Given the description of an element on the screen output the (x, y) to click on. 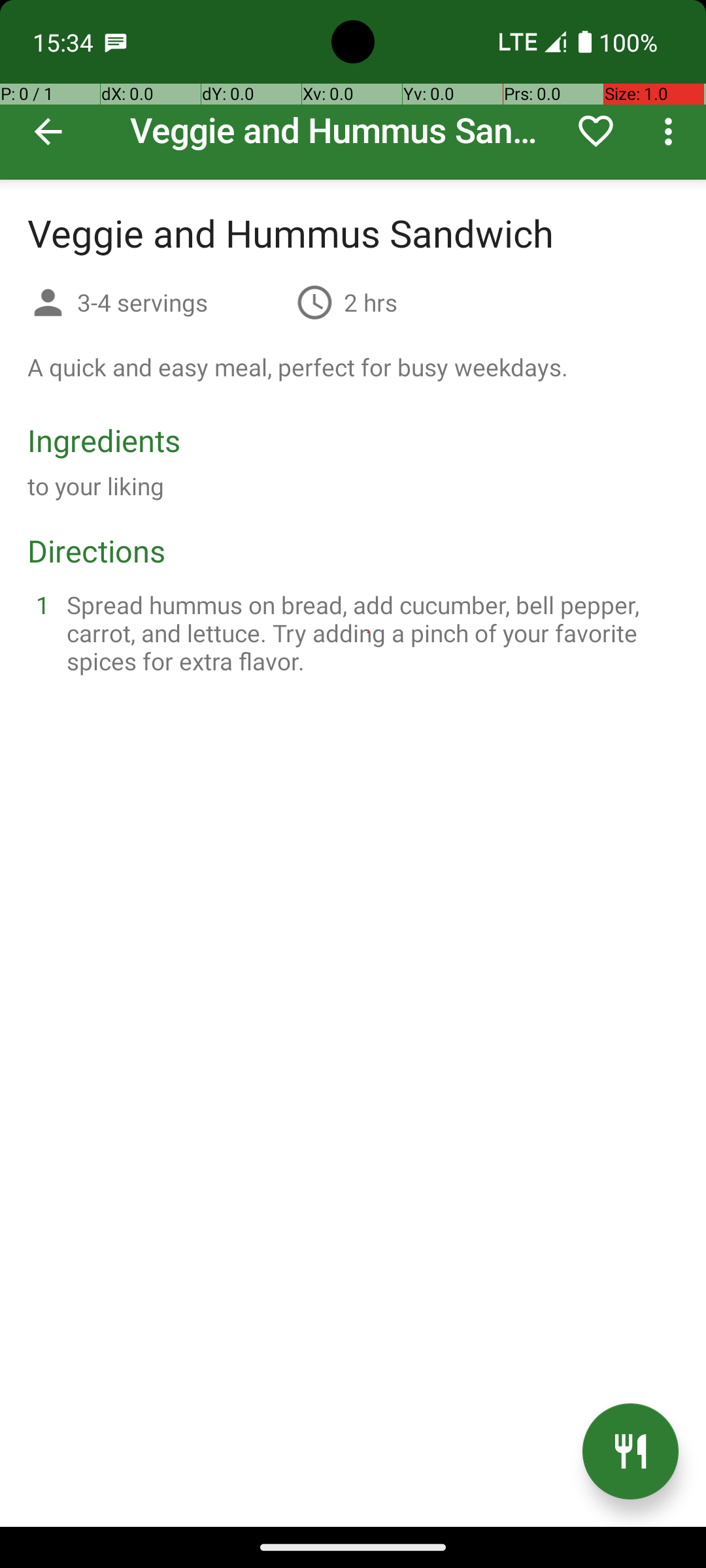
Veggie and Hummus Sandwich Element type: android.widget.FrameLayout (353, 89)
Spread hummus on bread, add cucumber, bell pepper, carrot, and lettuce. Try adding a pinch of your favorite spices for extra flavor. Element type: android.widget.TextView (368, 632)
